Given the description of an element on the screen output the (x, y) to click on. 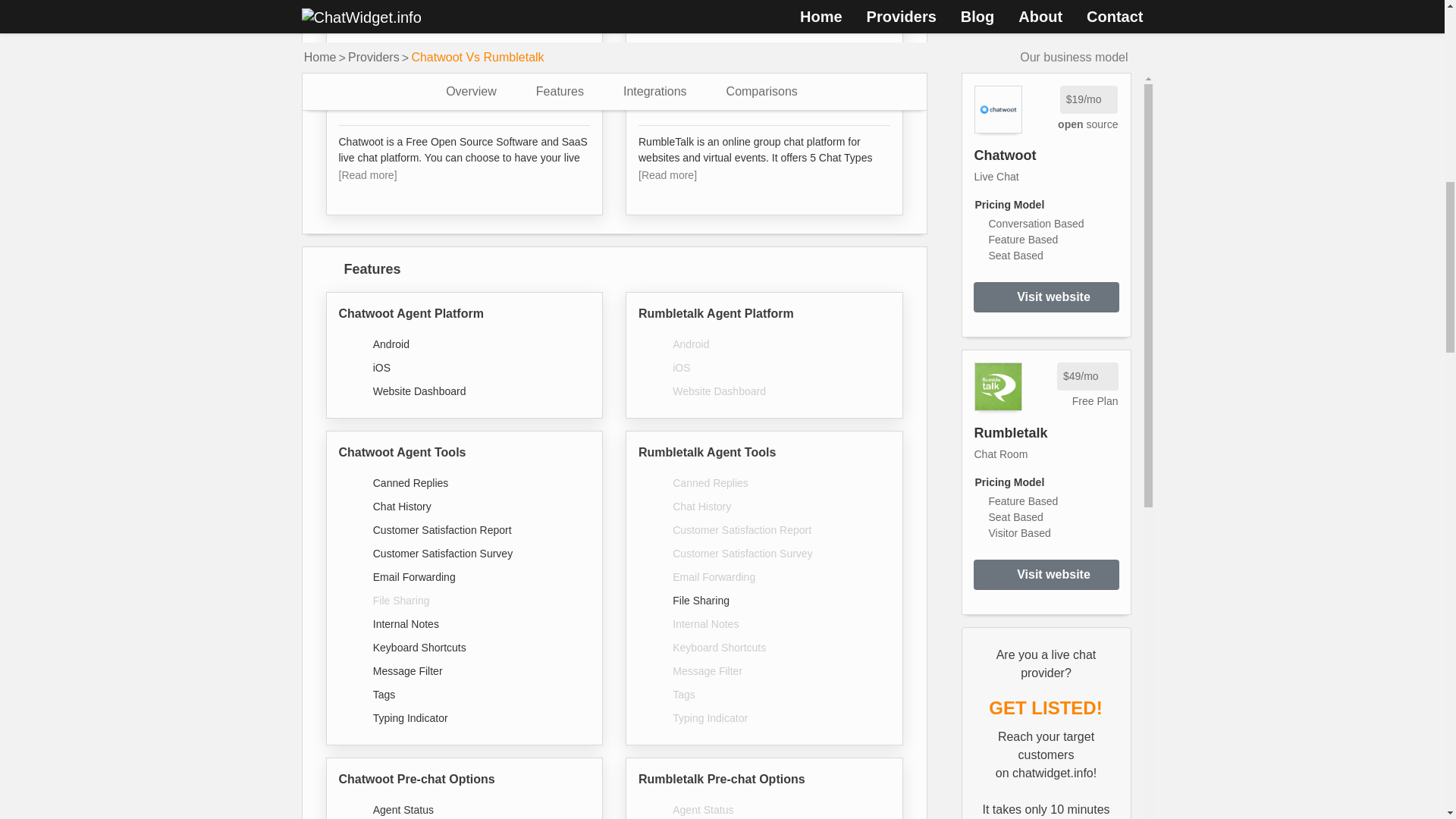
Read The Ins and Outs of Dialogflow (1045, 237)
Read We Asked ChatGPT about Customer Support (1045, 193)
Read Boei.help Takes on Live Chat Providers (1045, 588)
Read The Ins and Outs of Dialogflow (1045, 354)
Read How Live Chat Helps Doctors and Patients (1045, 426)
Read We Asked ChatGPT about Customer Support (1045, 309)
Recommended reads (1045, 237)
Read How Live Chat Helps Doctors and Patients (1045, 588)
Read LiveChat Inc Launches Free OpenWidget (1045, 471)
Read LiveChat Inc Launches Free OpenWidget (1029, 146)
Read Boei.help Takes on Live Chat Providers (1045, 543)
